Given the description of an element on the screen output the (x, y) to click on. 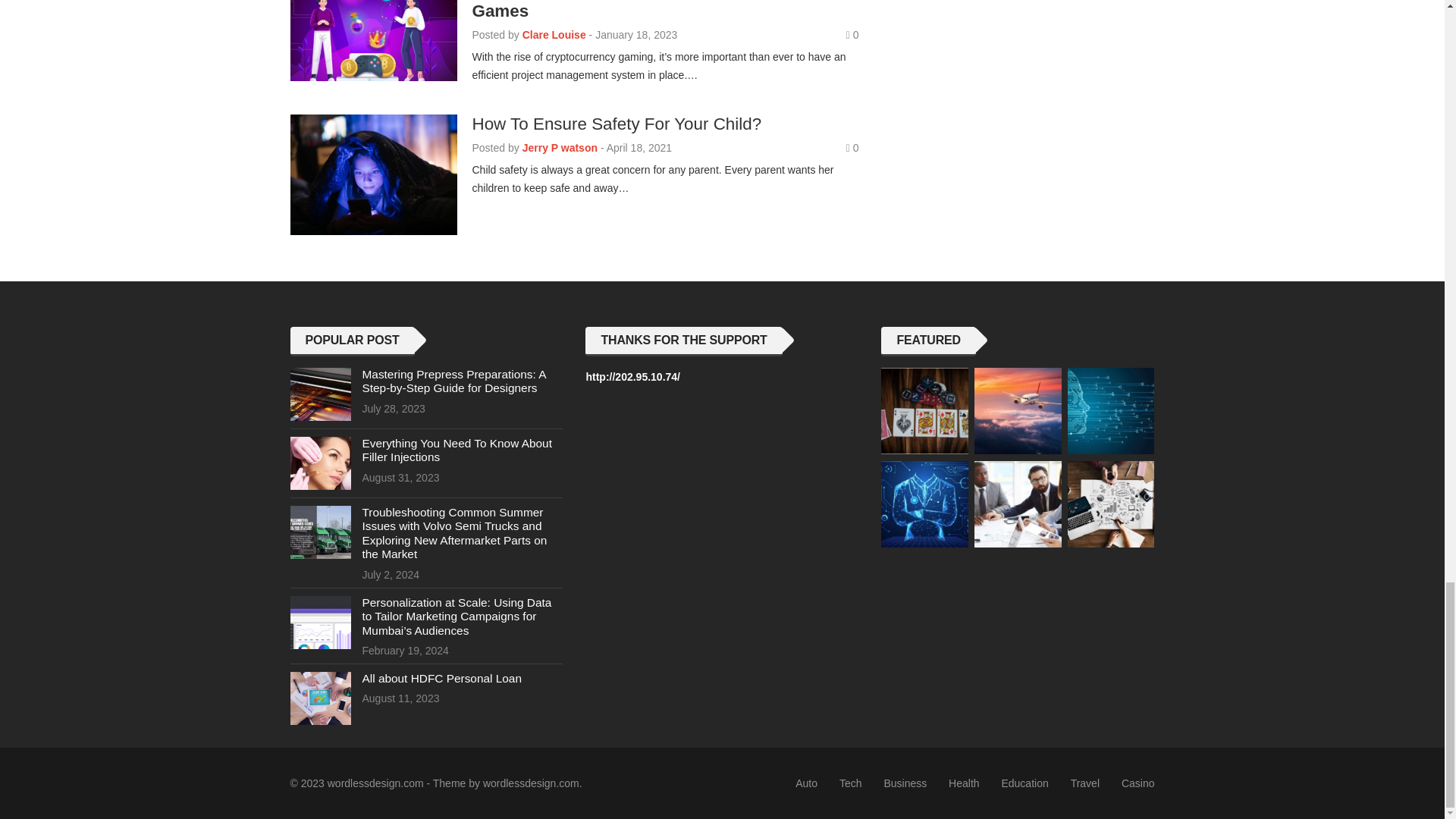
Posts by Clare Louise (554, 34)
Posts by Jerry P watson (559, 147)
